Given the description of an element on the screen output the (x, y) to click on. 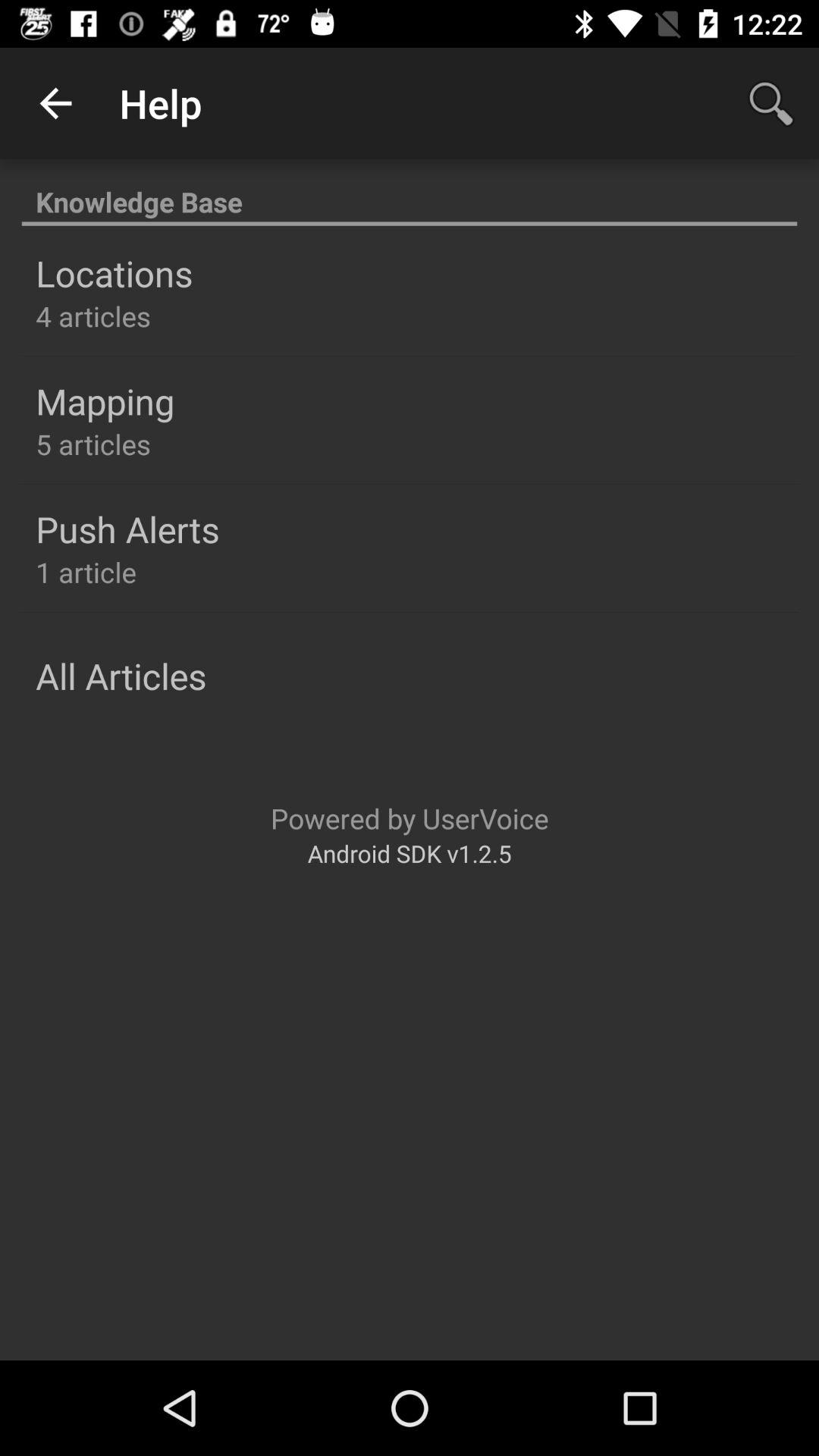
turn on item above the knowledge base item (55, 103)
